Given the description of an element on the screen output the (x, y) to click on. 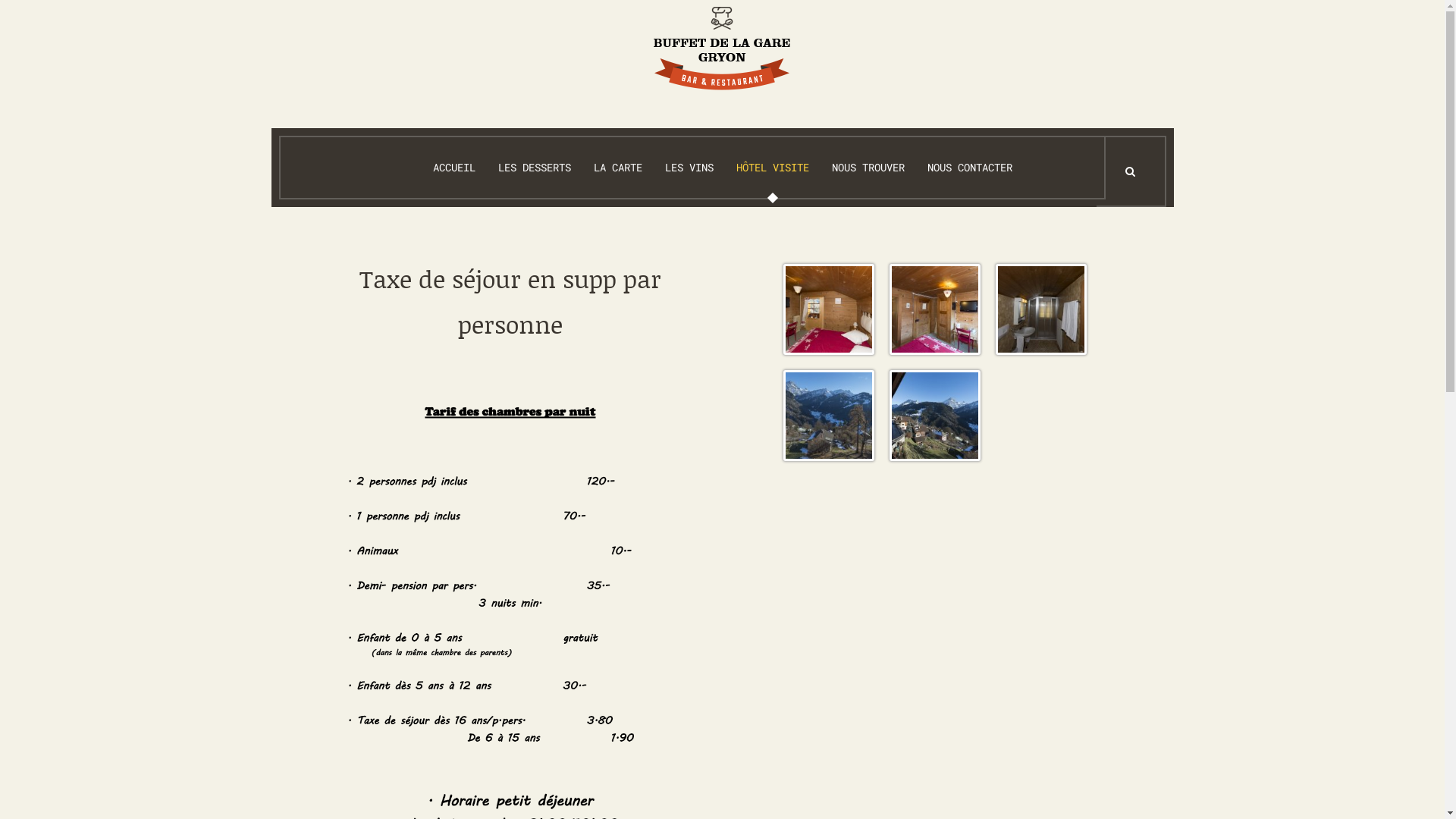
WC-Douche.jpg Element type: hover (1041, 311)
LES DESSERTS Element type: text (534, 167)
Chambre_2.jpg Element type: hover (829, 311)
NOUS CONTACTER Element type: text (969, 167)
LA CARTE Element type: text (617, 167)
ACCUEIL Element type: text (453, 167)
Vue_Sud.jpg Element type: hover (935, 417)
Chambre_1.jpg Element type: hover (935, 311)
LES VINS Element type: text (688, 167)
Buffet de la Gare de Gryon Element type: hover (722, 45)
NOUS TROUVER Element type: text (868, 167)
Vue_Muveran.jpg Element type: hover (829, 417)
